Given the description of an element on the screen output the (x, y) to click on. 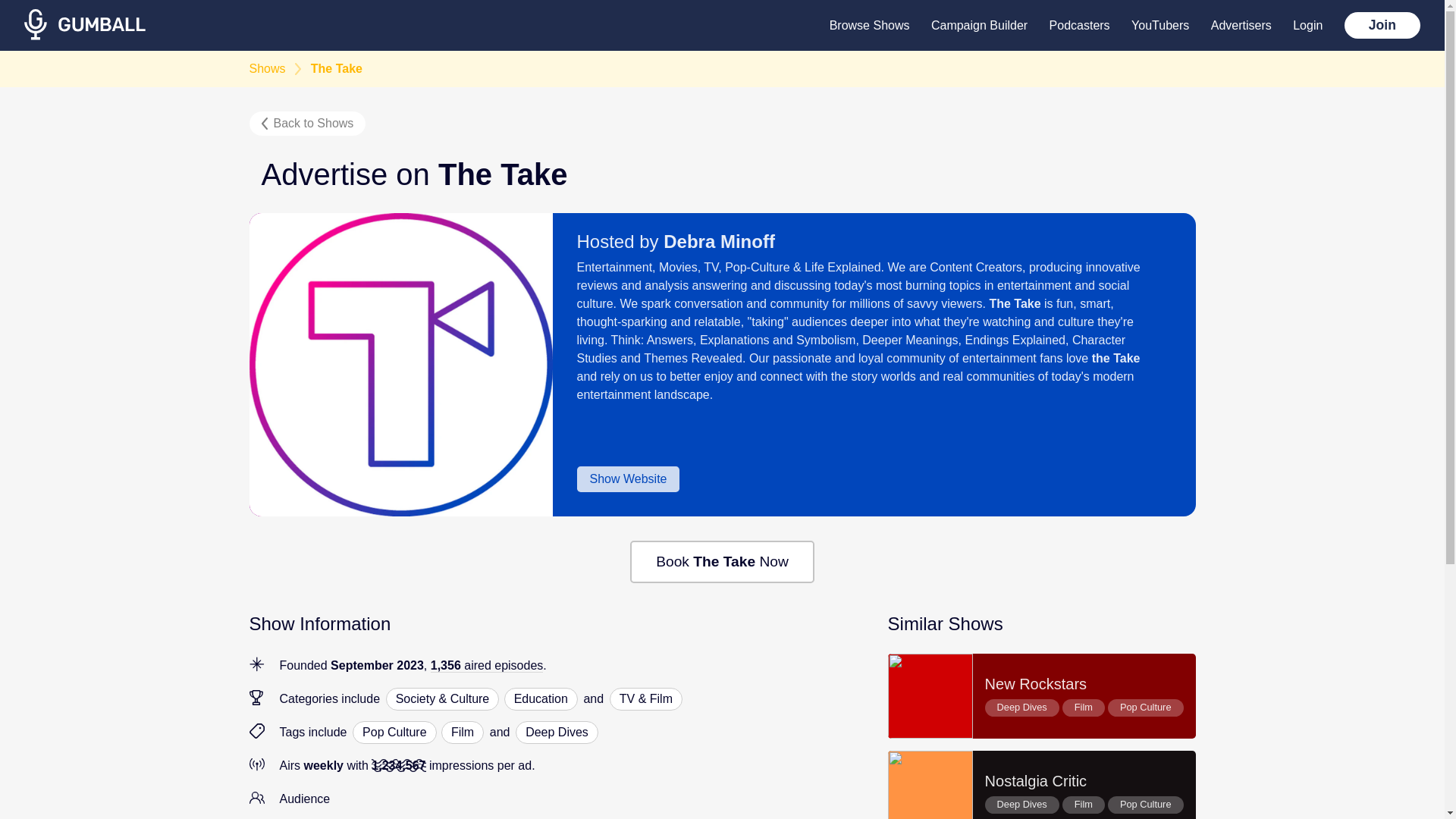
Shows (266, 69)
YouTubers (1160, 25)
1,356 aired episodes (486, 665)
Campaign Builder (979, 25)
Film (1041, 695)
Back to Shows (462, 732)
Pop Culture (306, 123)
Deep Dives (394, 732)
Book The Take Now (556, 732)
